Given the description of an element on the screen output the (x, y) to click on. 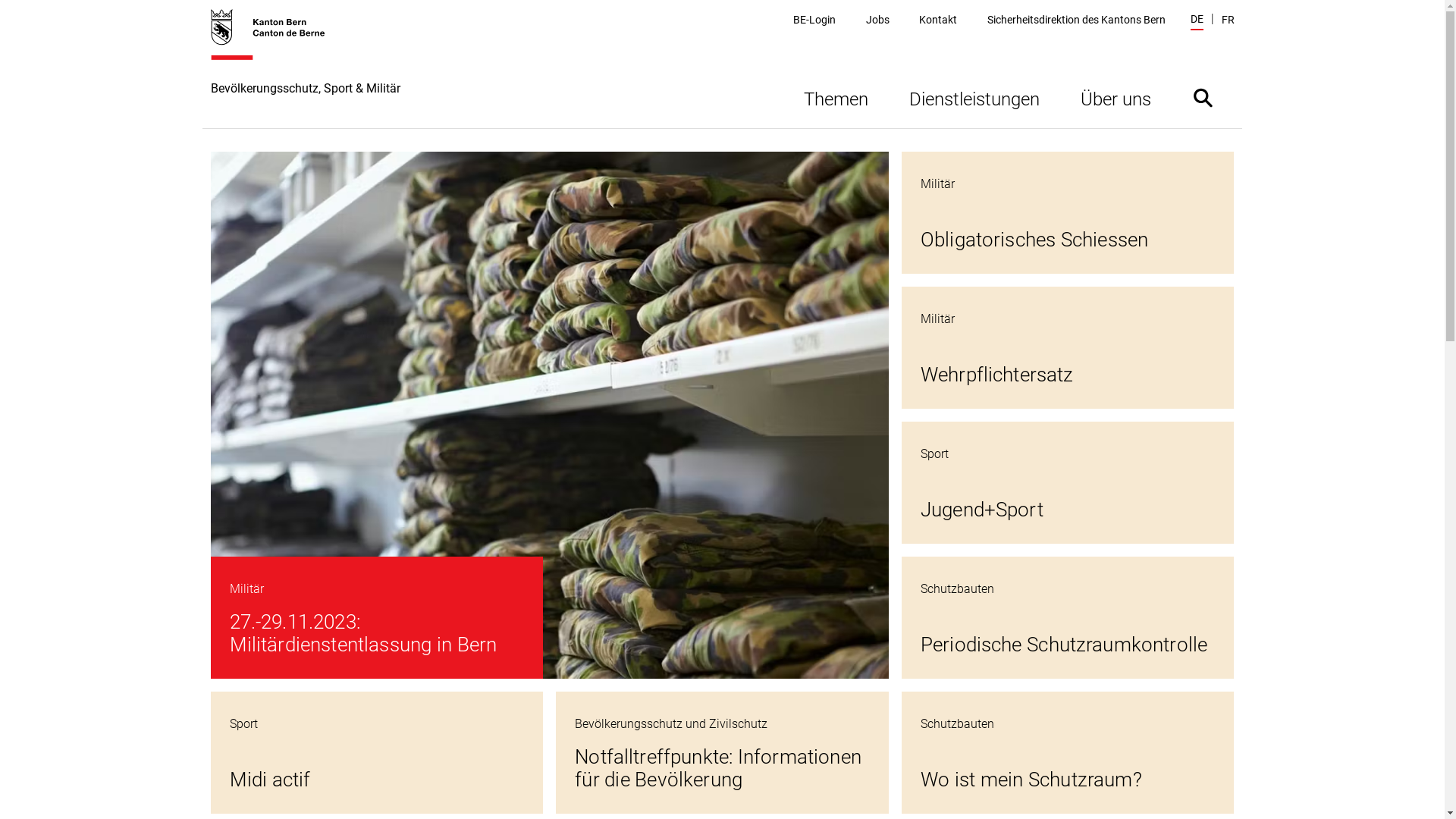
Kontakt Element type: text (938, 19)
Sicherheitsdirektion des Kantons Bern Element type: text (1076, 19)
Periodische Schutzraumkontrolle
Schutzbauten Element type: text (1067, 617)
Jugend+Sport
Sport Element type: text (1067, 482)
FR Element type: text (1226, 19)
Wo ist mein Schutzraum?
Schutzbauten Element type: text (1067, 752)
BE-Login Element type: text (814, 19)
Jobs Element type: text (877, 19)
DE Element type: text (1196, 21)
Suche ein- oder ausblenden Element type: text (1201, 96)
Midi actif
Sport Element type: text (376, 752)
Themen Element type: text (835, 96)
Dienstleistungen Element type: text (974, 96)
